Given the description of an element on the screen output the (x, y) to click on. 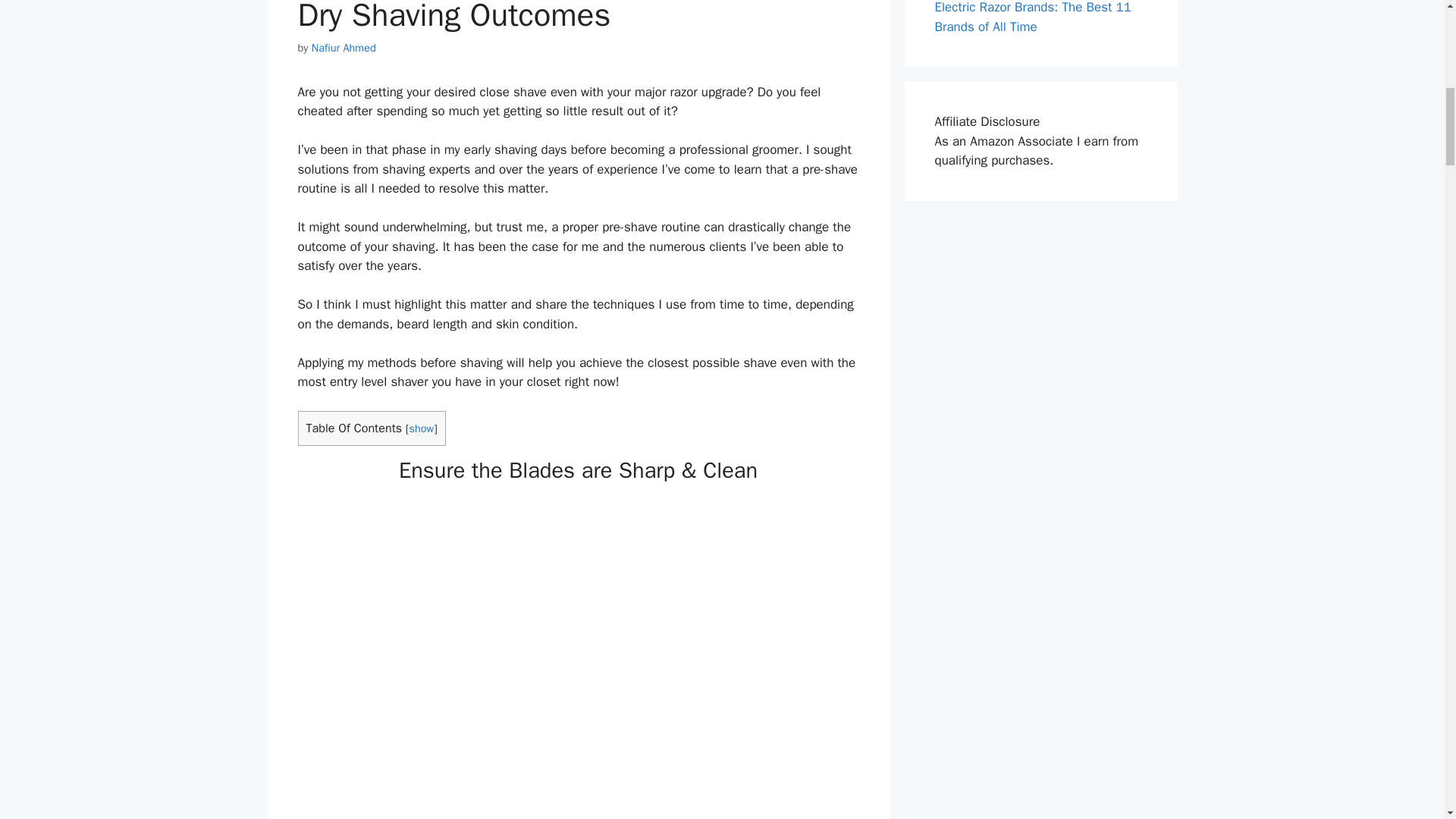
Nafiur Ahmed (343, 47)
Electric Razor Brands: The Best 11 Brands of All Time (1032, 17)
show (421, 427)
Scroll back to top (1406, 720)
View all posts by Nafiur Ahmed (343, 47)
